Given the description of an element on the screen output the (x, y) to click on. 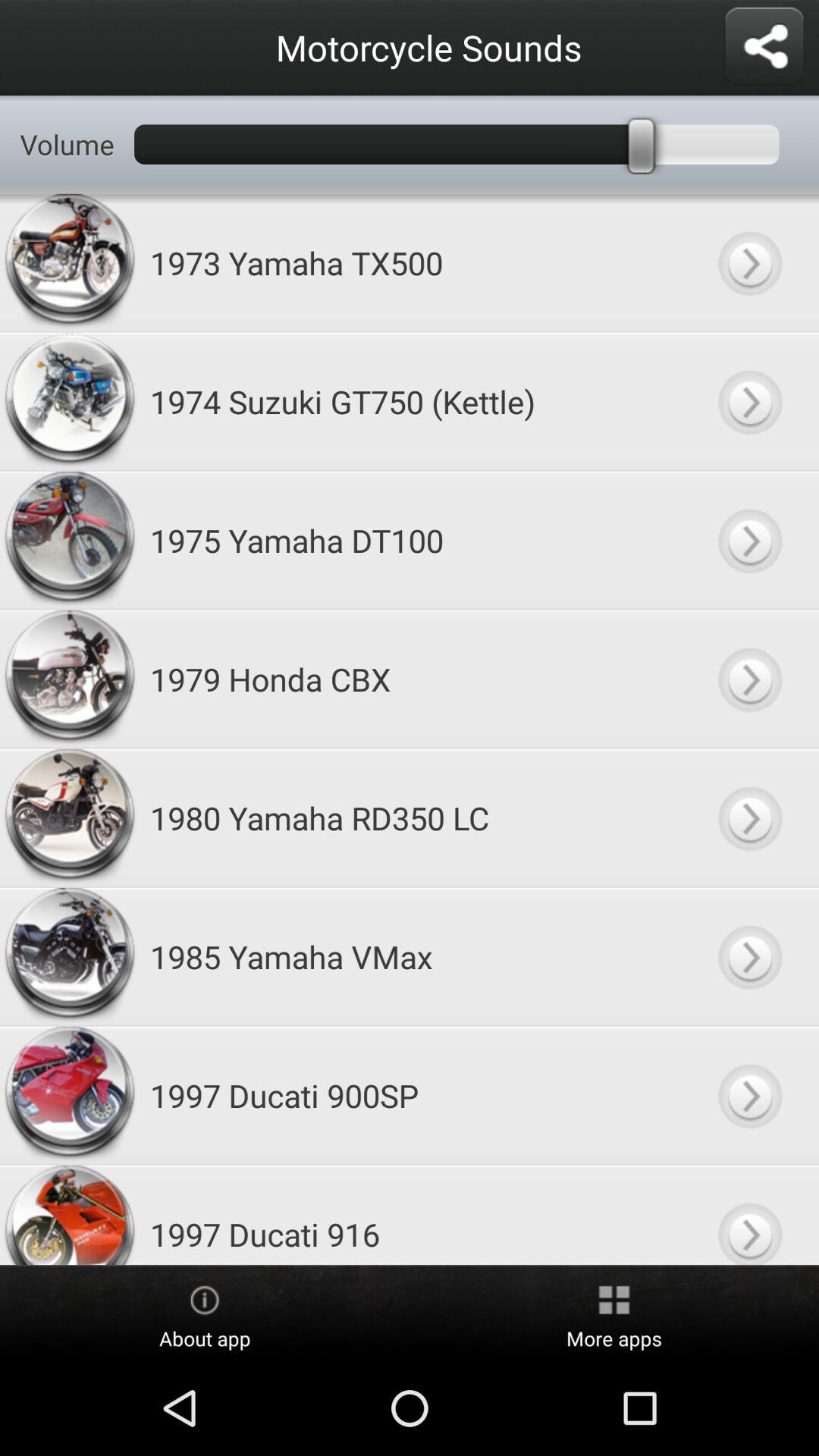
play 1975 yamaha dt100 (749, 540)
